Given the description of an element on the screen output the (x, y) to click on. 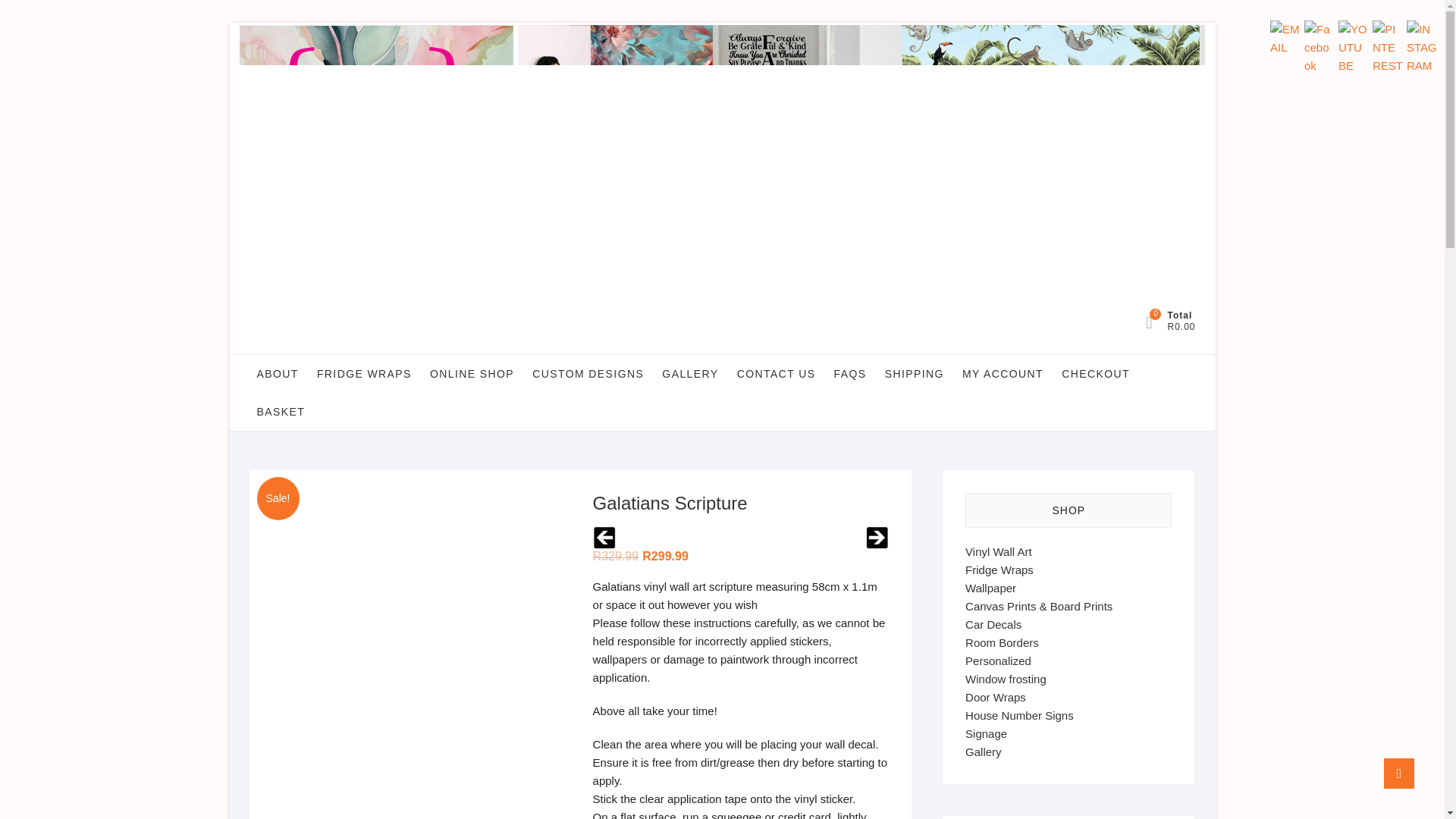
FAQS (851, 373)
ABOUT (276, 373)
CUSTOM DESIGNS (587, 373)
FRIDGE WRAPS (363, 373)
MY ACCOUNT (1003, 373)
GALLERY (689, 373)
CONTACT US (776, 373)
CHECKOUT (1095, 373)
BASKET (280, 411)
